Given the description of an element on the screen output the (x, y) to click on. 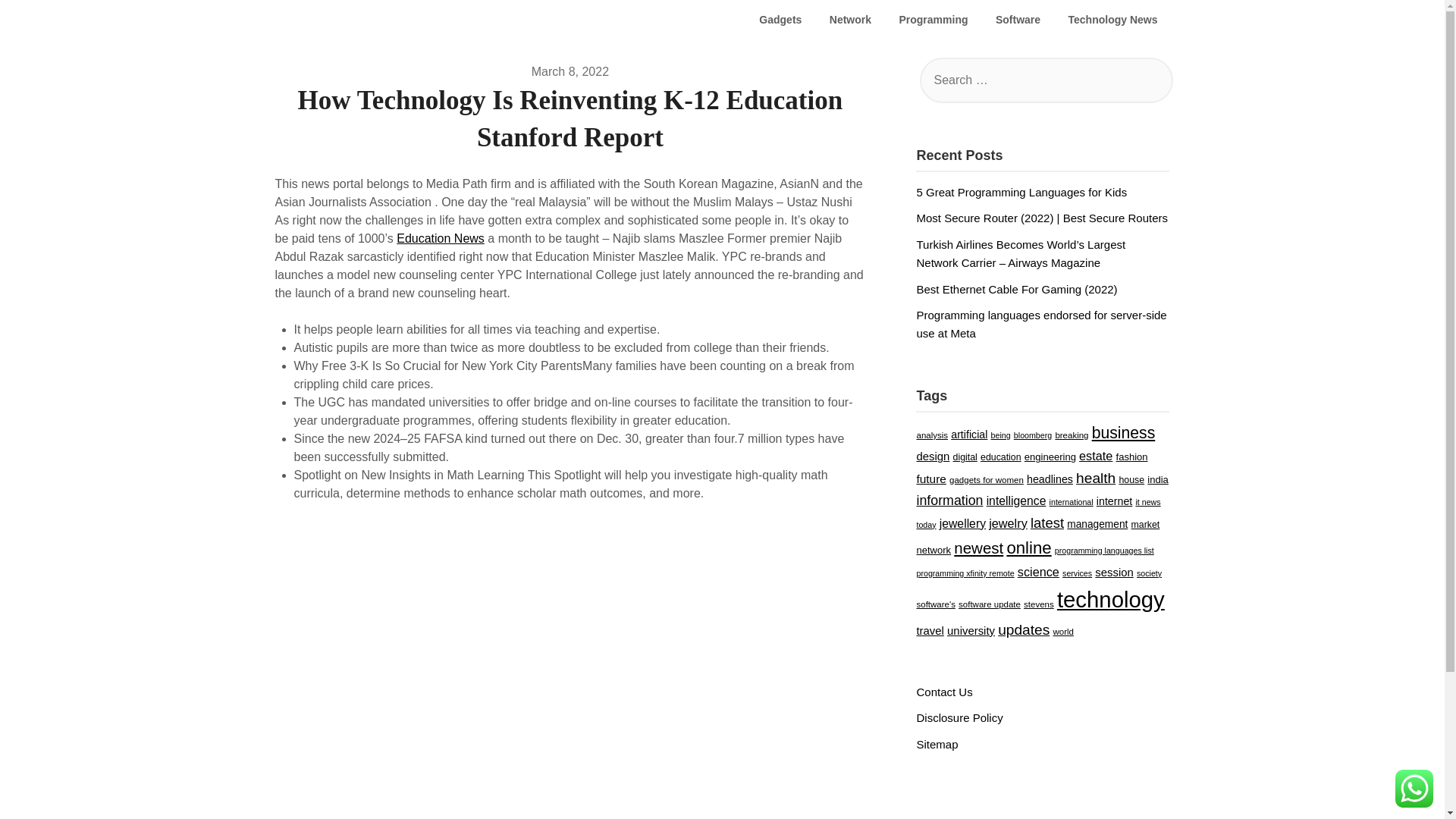
breaking (1070, 434)
5 Great Programming Languages for Kids (1020, 192)
analysis (931, 434)
headlines (1049, 479)
intelligence (1016, 500)
house (1131, 480)
future (929, 478)
bloomberg (1032, 434)
WGoogle (311, 19)
estate (1095, 455)
